Given the description of an element on the screen output the (x, y) to click on. 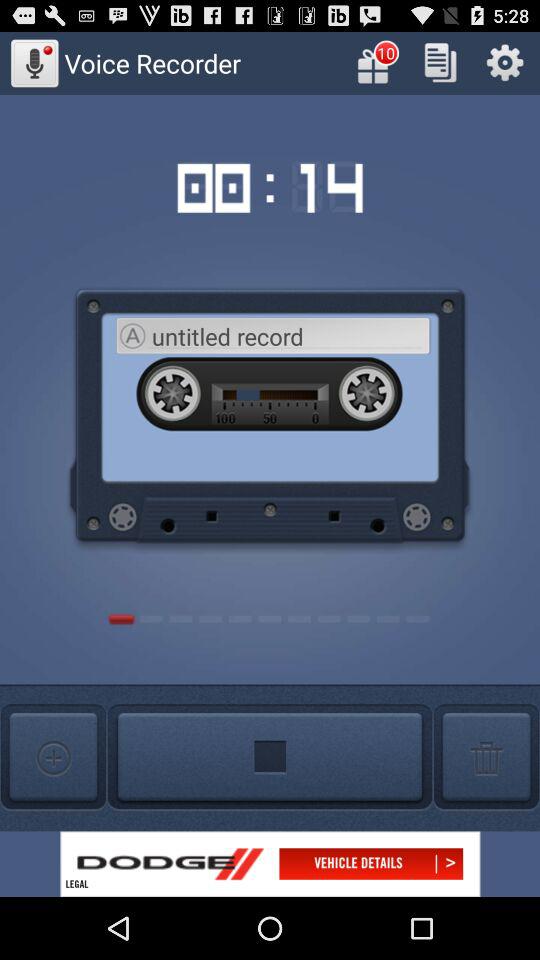
go to increash (53, 757)
